Given the description of an element on the screen output the (x, y) to click on. 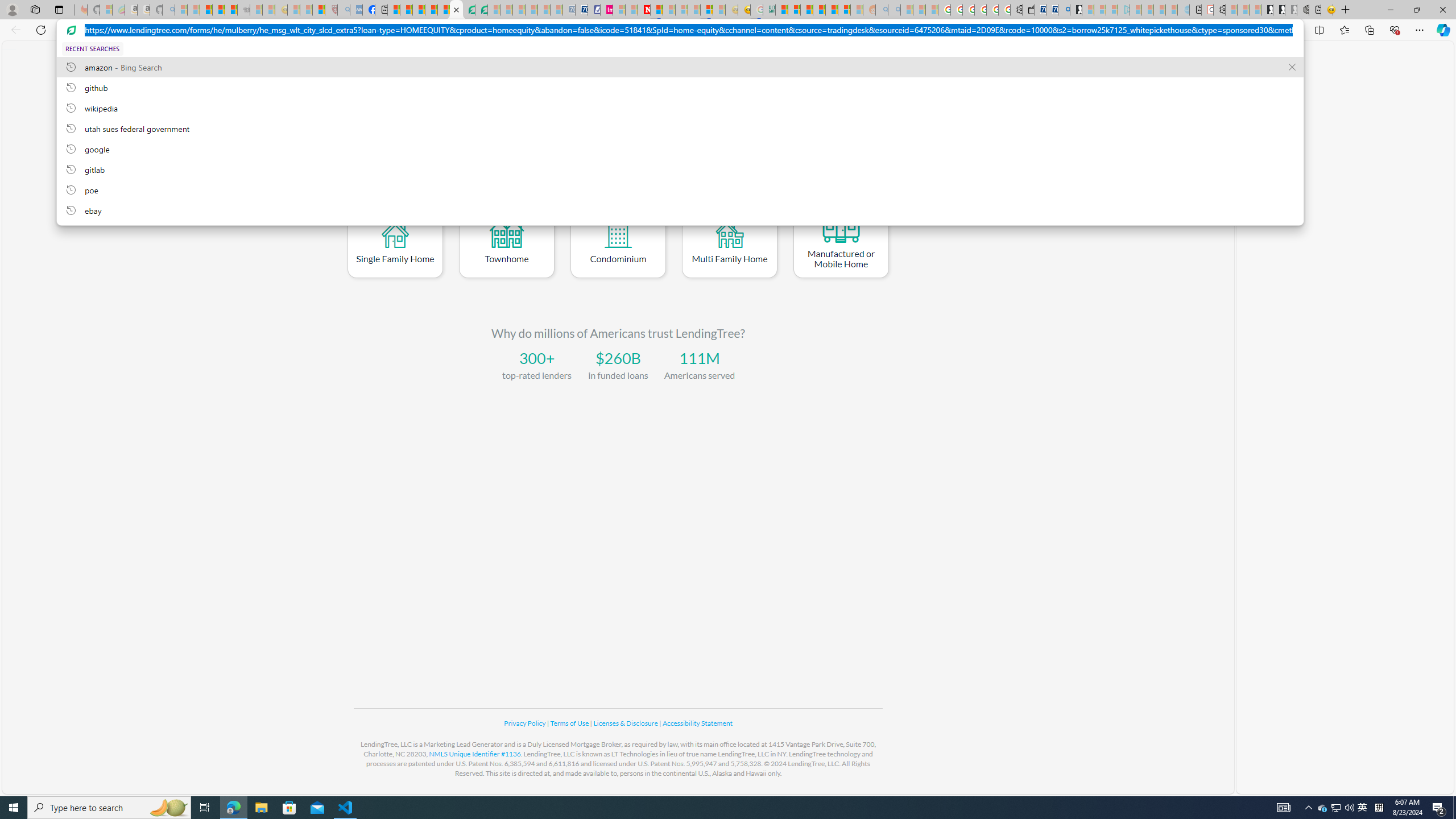
amazon, recent searches from history (679, 66)
The Weather Channel - MSN (205, 9)
gitlab, recent searches from history (679, 168)
LendingTree - Compare Lenders (456, 9)
